Given the description of an element on the screen output the (x, y) to click on. 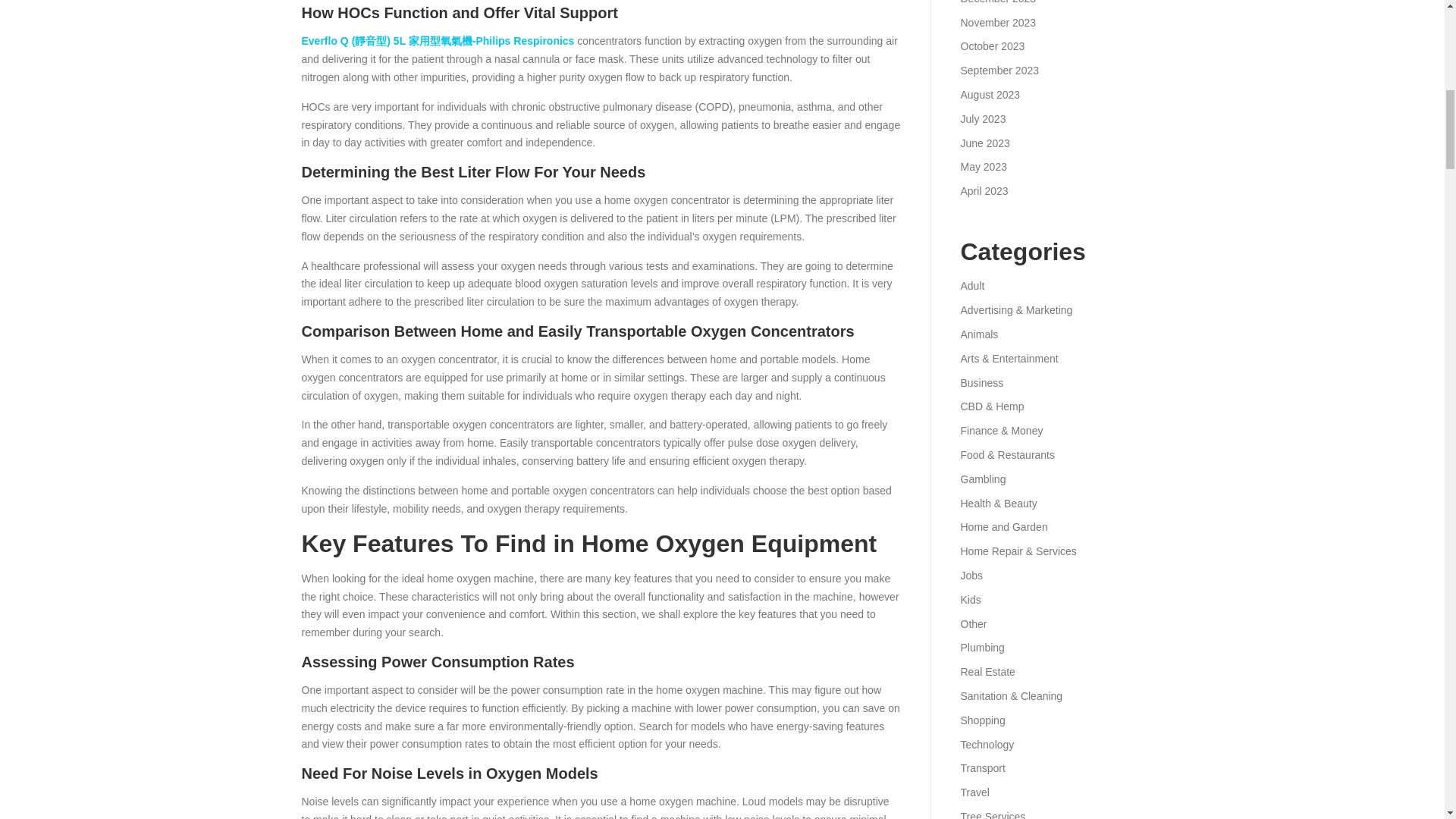
June 2023 (984, 143)
July 2023 (982, 119)
April 2023 (983, 191)
May 2023 (982, 166)
December 2023 (997, 2)
October 2023 (992, 46)
Business (981, 382)
August 2023 (989, 94)
Adult (971, 285)
Animals (978, 334)
